Given the description of an element on the screen output the (x, y) to click on. 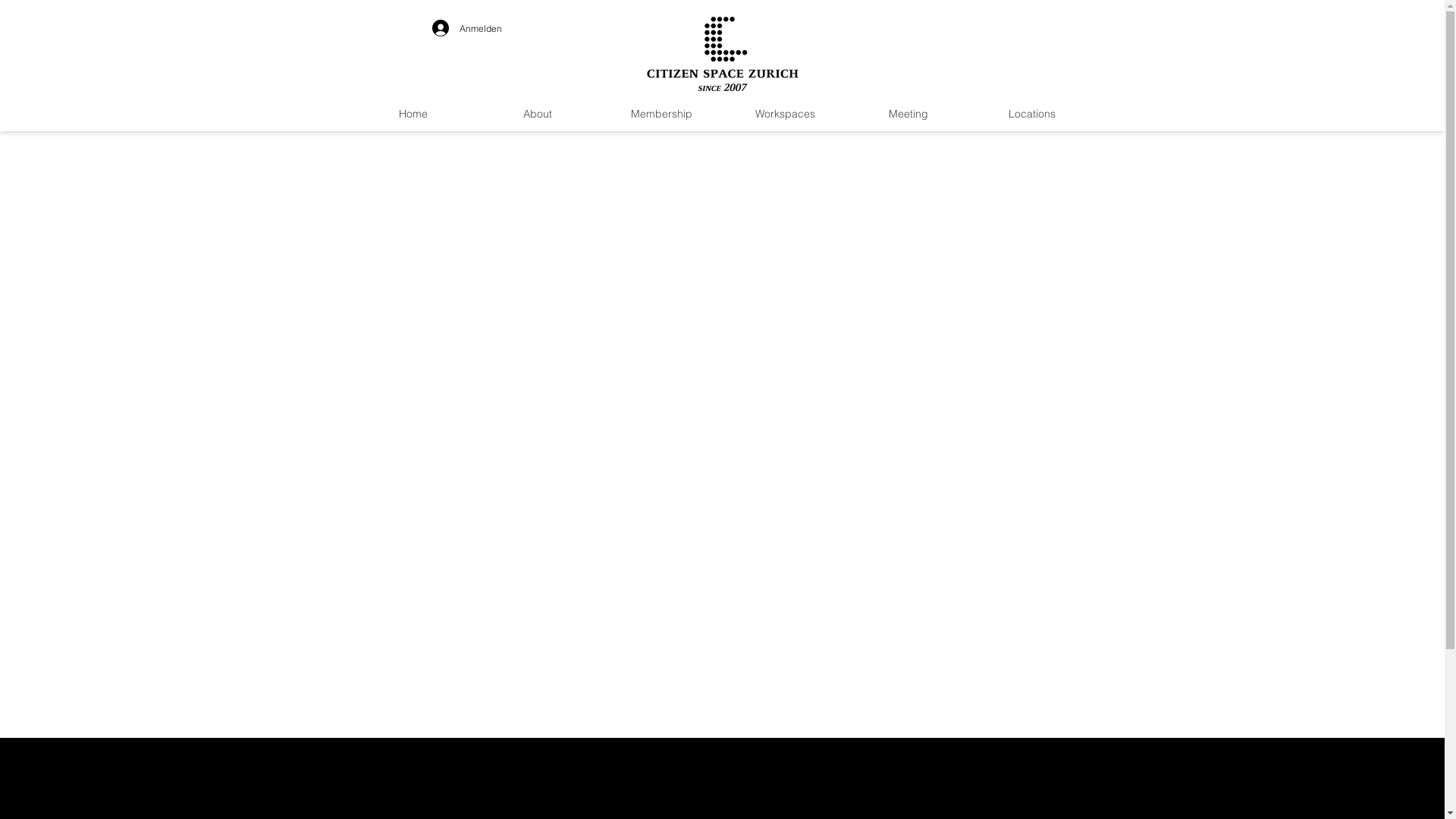
Anmelden Element type: text (466, 27)
Meeting Element type: text (907, 114)
Locations Element type: text (1032, 114)
About Element type: text (536, 114)
Workspaces Element type: text (785, 114)
Home Element type: text (412, 114)
Membership Element type: text (660, 114)
